Given the description of an element on the screen output the (x, y) to click on. 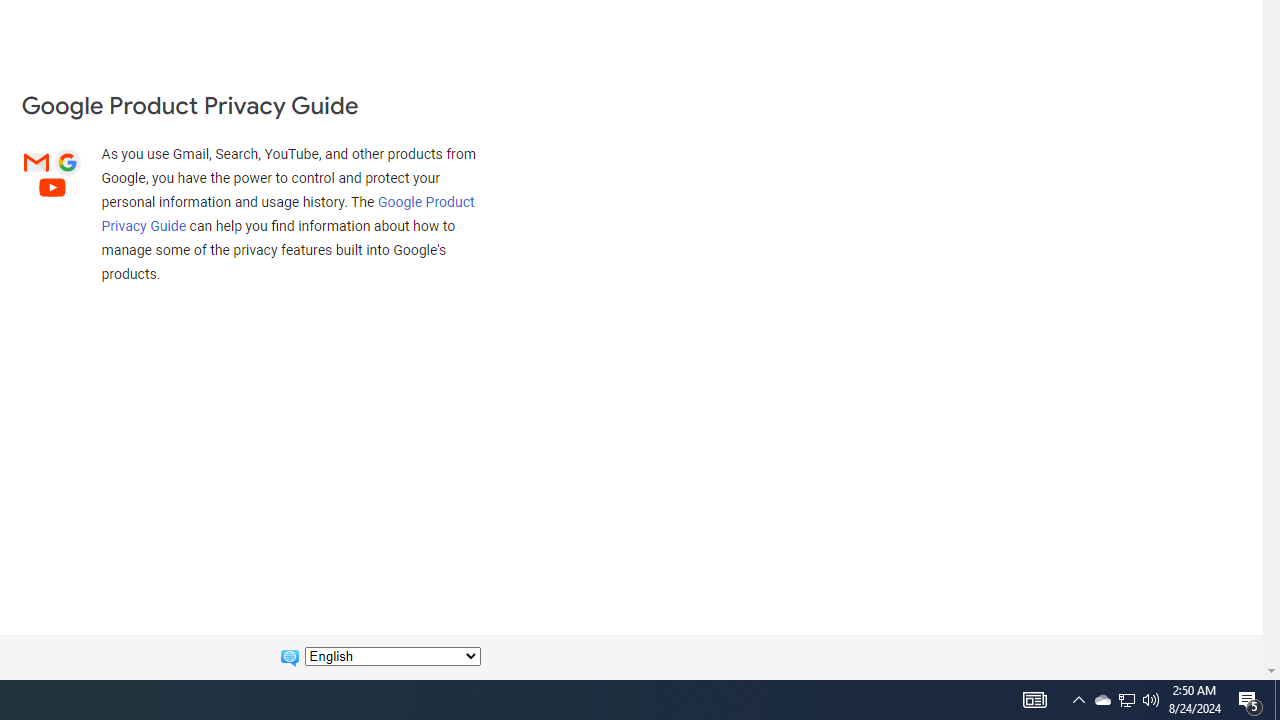
Google Product Privacy Guide (287, 213)
Change language: (392, 656)
